Given the description of an element on the screen output the (x, y) to click on. 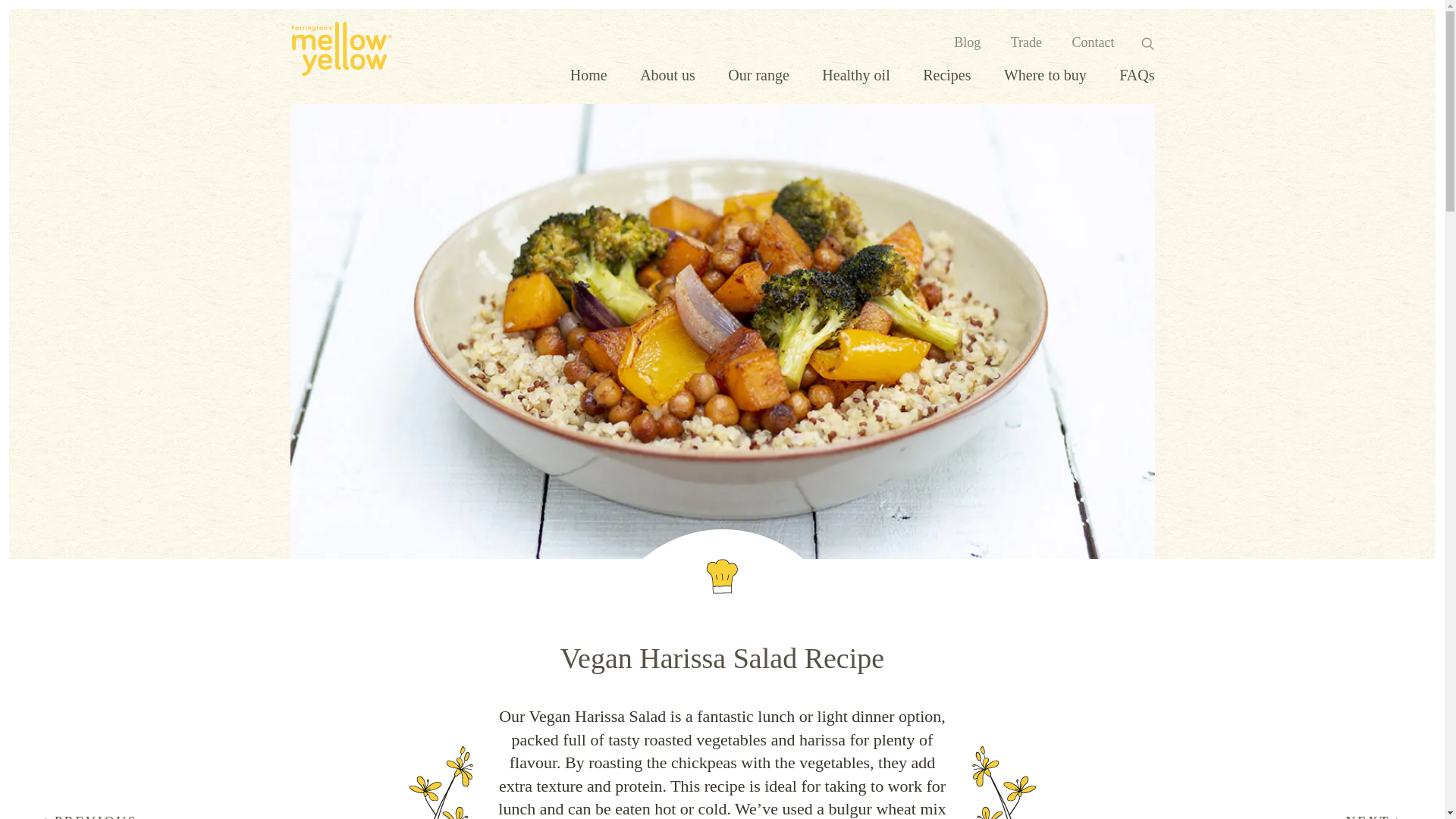
Trade (1026, 42)
Where to buy (1045, 74)
About us (667, 74)
Blog (966, 42)
Our range (758, 74)
Contact (1093, 42)
Recipes (947, 74)
FAQs (1136, 74)
Healthy oil (855, 74)
Home (588, 74)
